Given the description of an element on the screen output the (x, y) to click on. 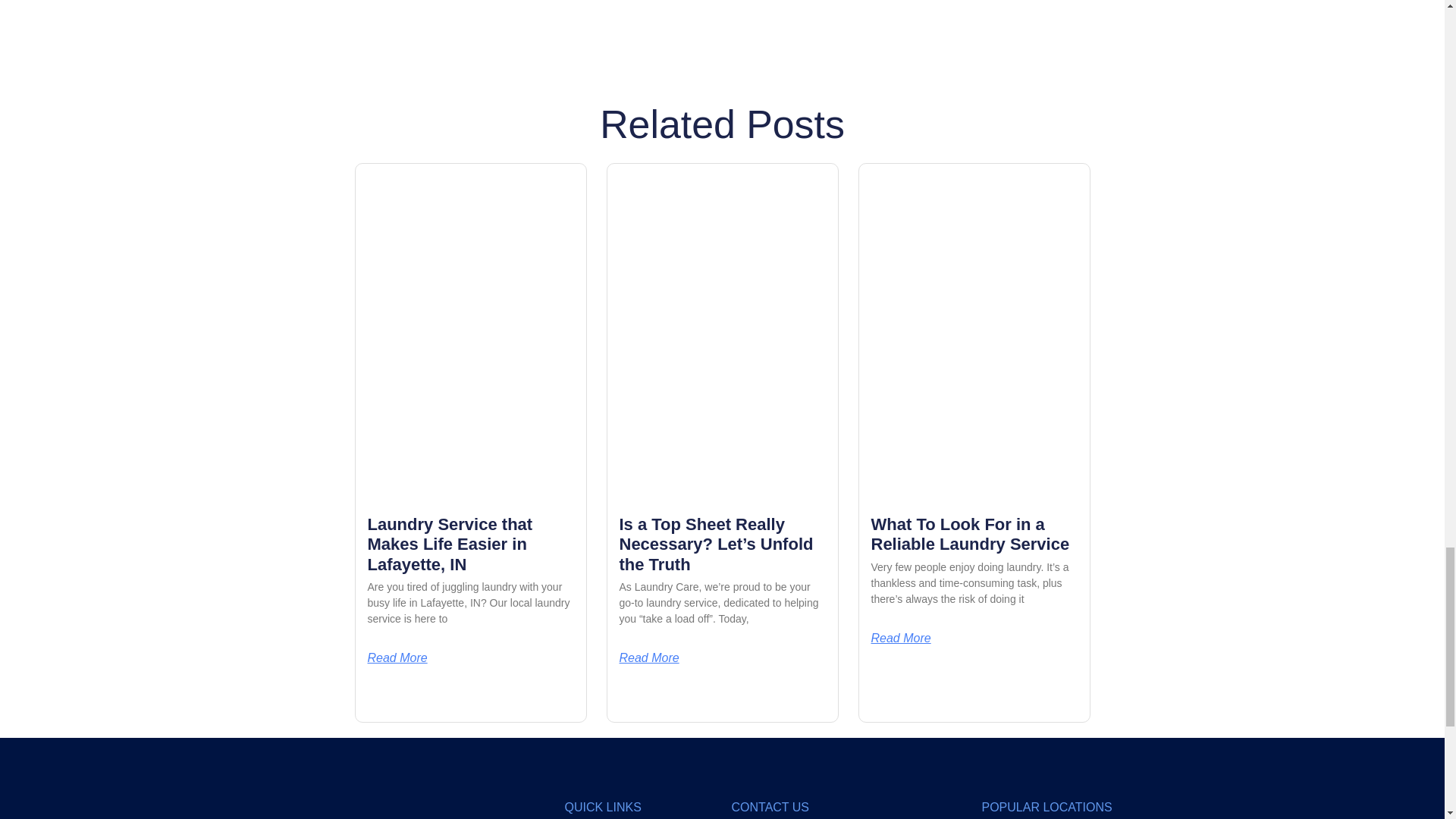
Read More (396, 657)
Read More (648, 657)
Read More (900, 638)
What To Look For in a Reliable Laundry Service (969, 534)
Laundry Service that Makes Life Easier in Lafayette, IN (449, 544)
